Given the description of an element on the screen output the (x, y) to click on. 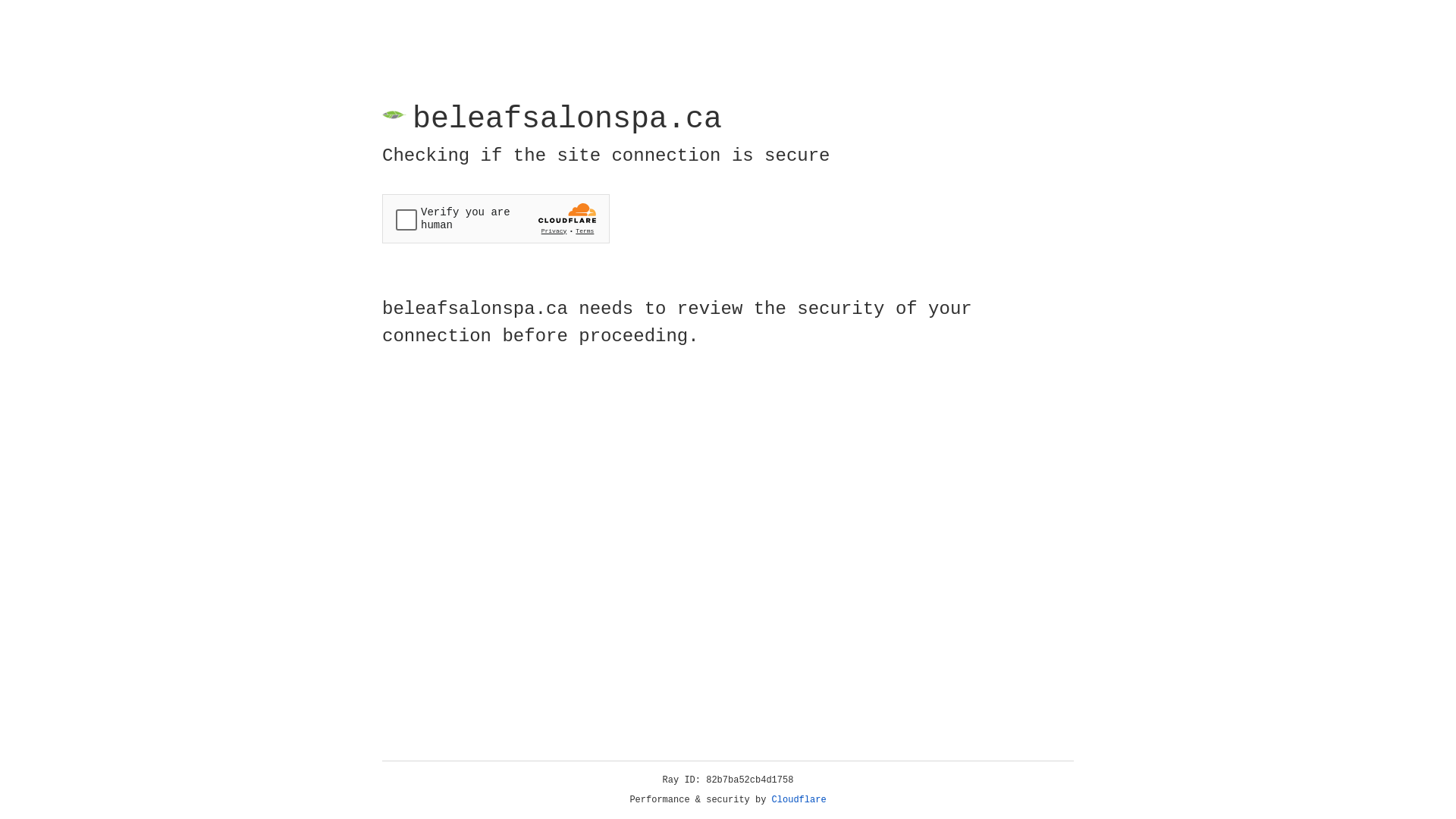
Widget containing a Cloudflare security challenge Element type: hover (495, 218)
Cloudflare Element type: text (798, 799)
